Given the description of an element on the screen output the (x, y) to click on. 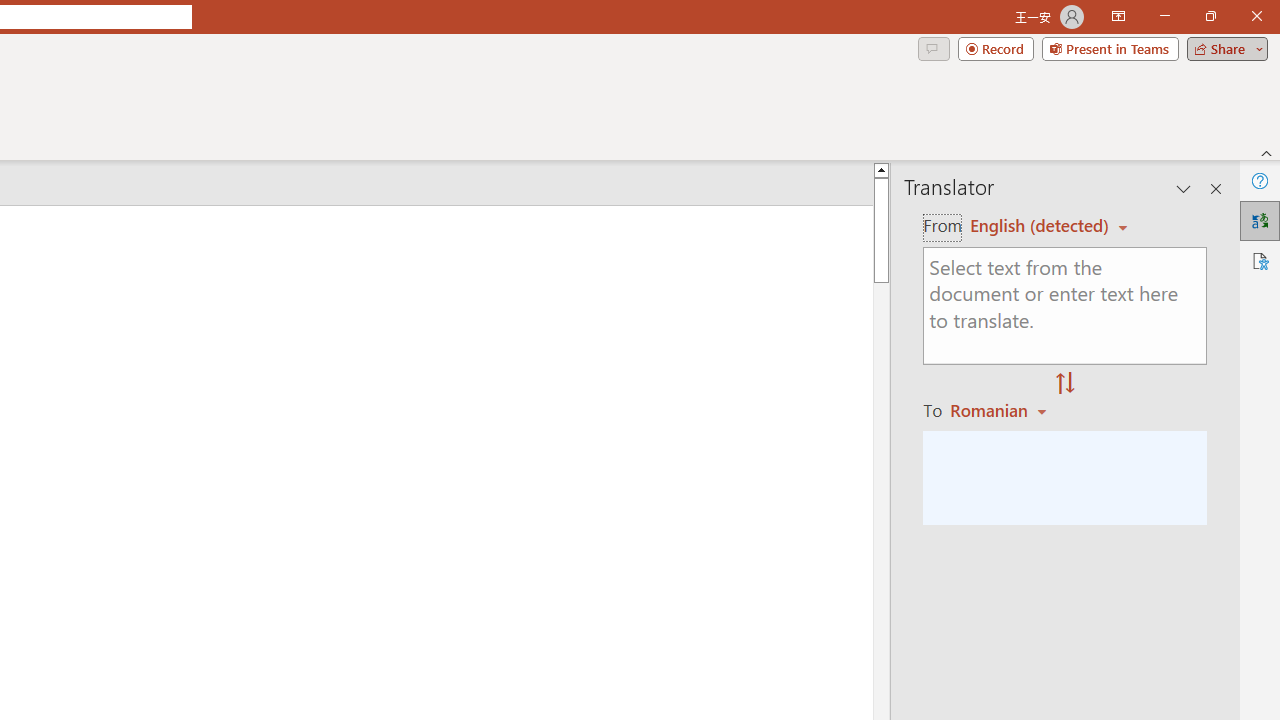
Romanian (1001, 409)
